Given the description of an element on the screen output the (x, y) to click on. 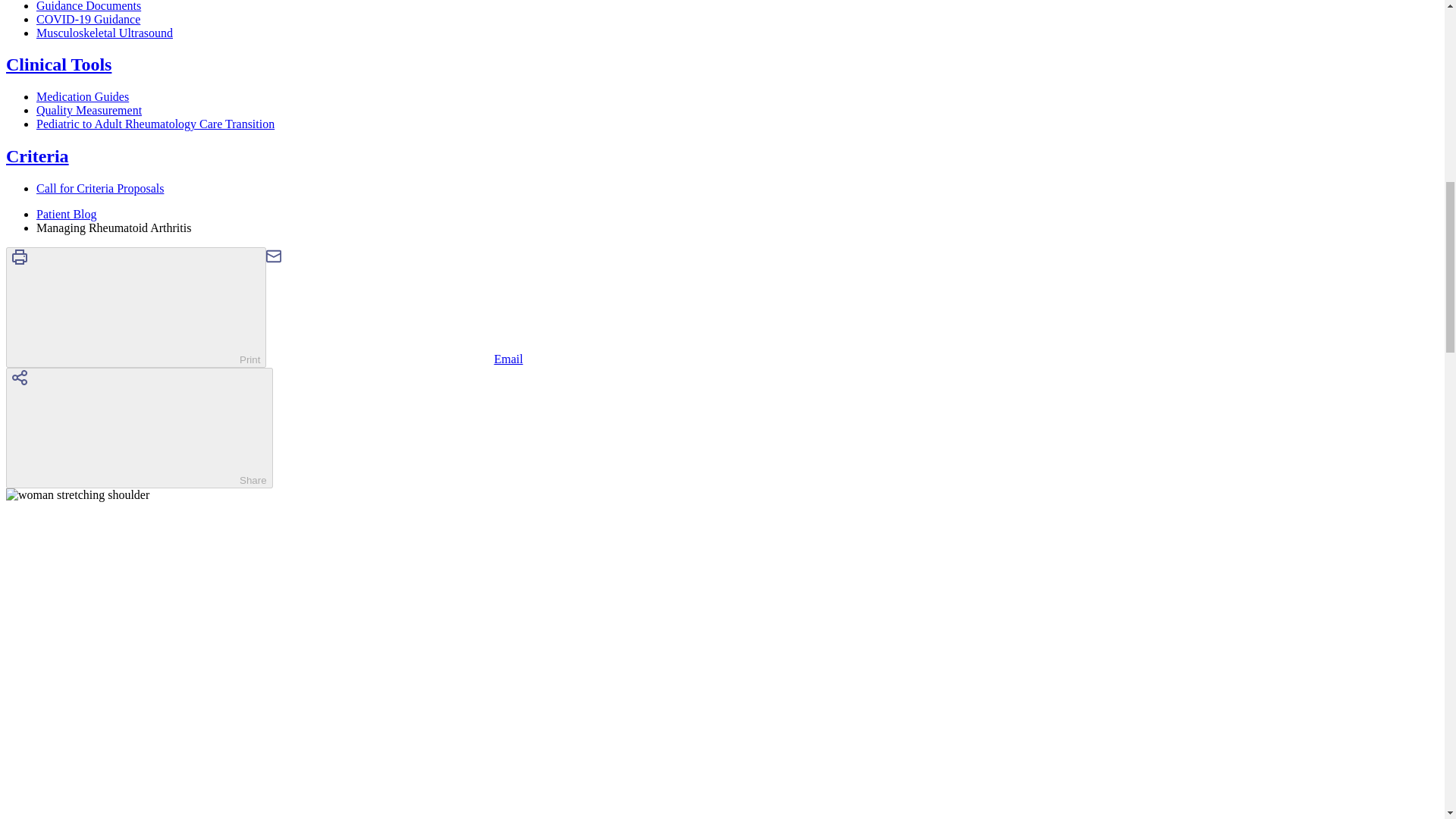
COVID-19 Guidance (87, 19)
Guidance Documents (88, 6)
Clinical Tools (58, 64)
Patient Blog (66, 214)
Musculoskeletal Ultrasound (104, 32)
